Given the description of an element on the screen output the (x, y) to click on. 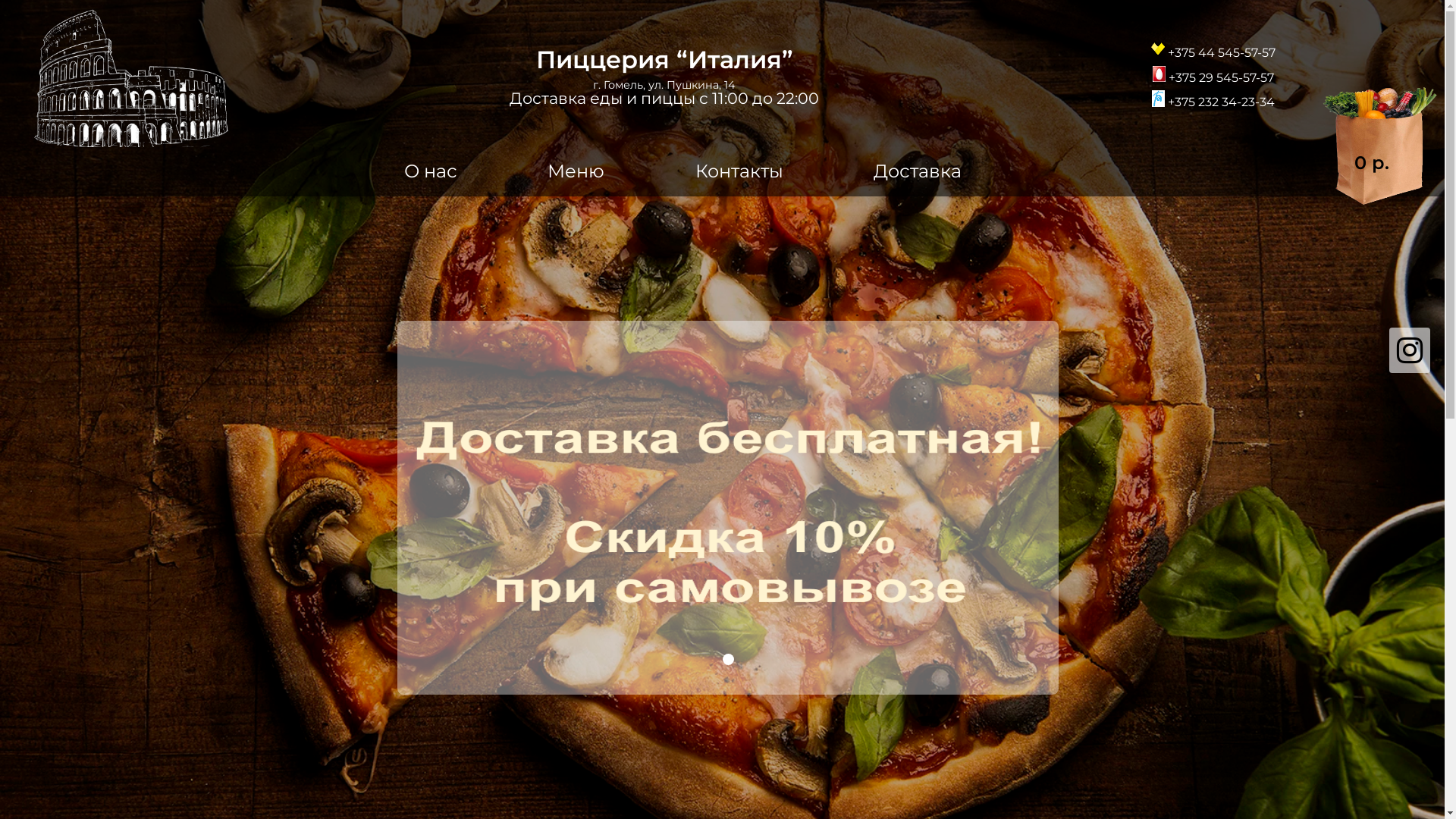
+375 44 545-57-57 Element type: text (1212, 48)
+375 232 34-23-34 Element type: text (1212, 98)
+375 29 545-57-57 Element type: text (1212, 73)
